Given the description of an element on the screen output the (x, y) to click on. 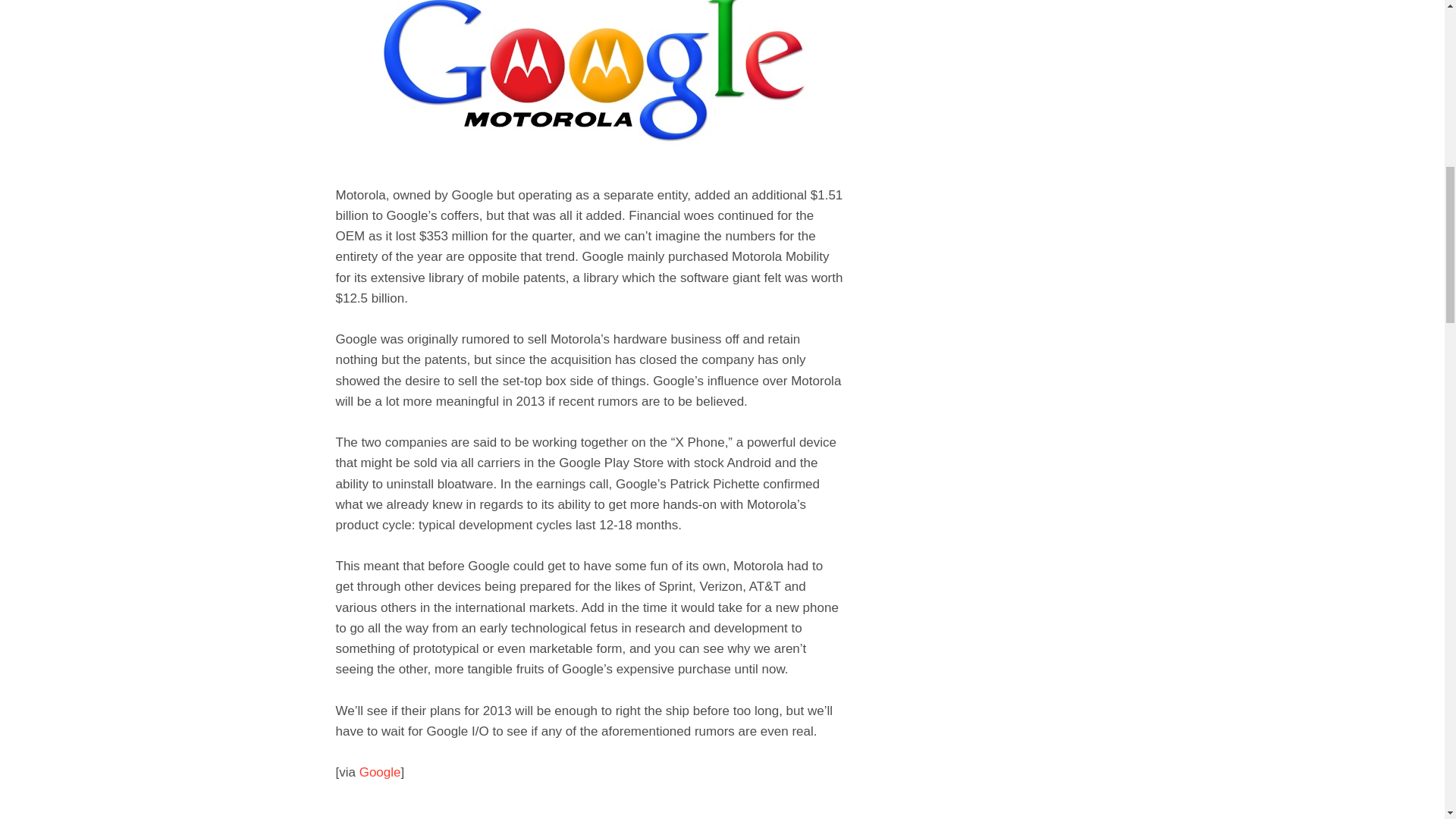
google-motorola-1 (589, 82)
Google (380, 771)
